Given the description of an element on the screen output the (x, y) to click on. 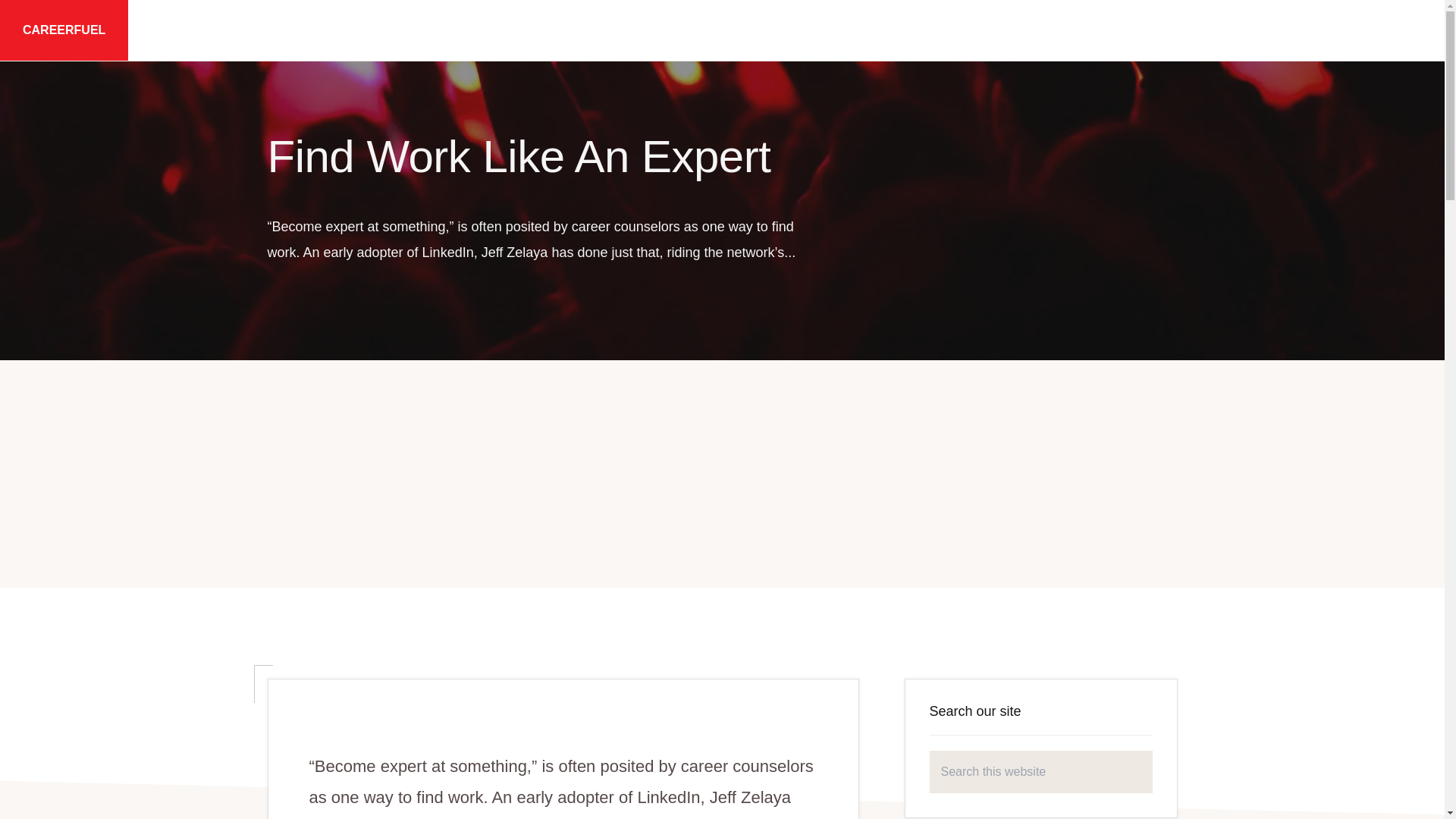
CAREERFUEL (64, 30)
Start a Small Business (954, 30)
Find Work (666, 30)
Connect (1350, 30)
Crowdfunding (1098, 30)
Campus CareerFuel (793, 30)
Blog (1193, 30)
News (1266, 30)
